Given the description of an element on the screen output the (x, y) to click on. 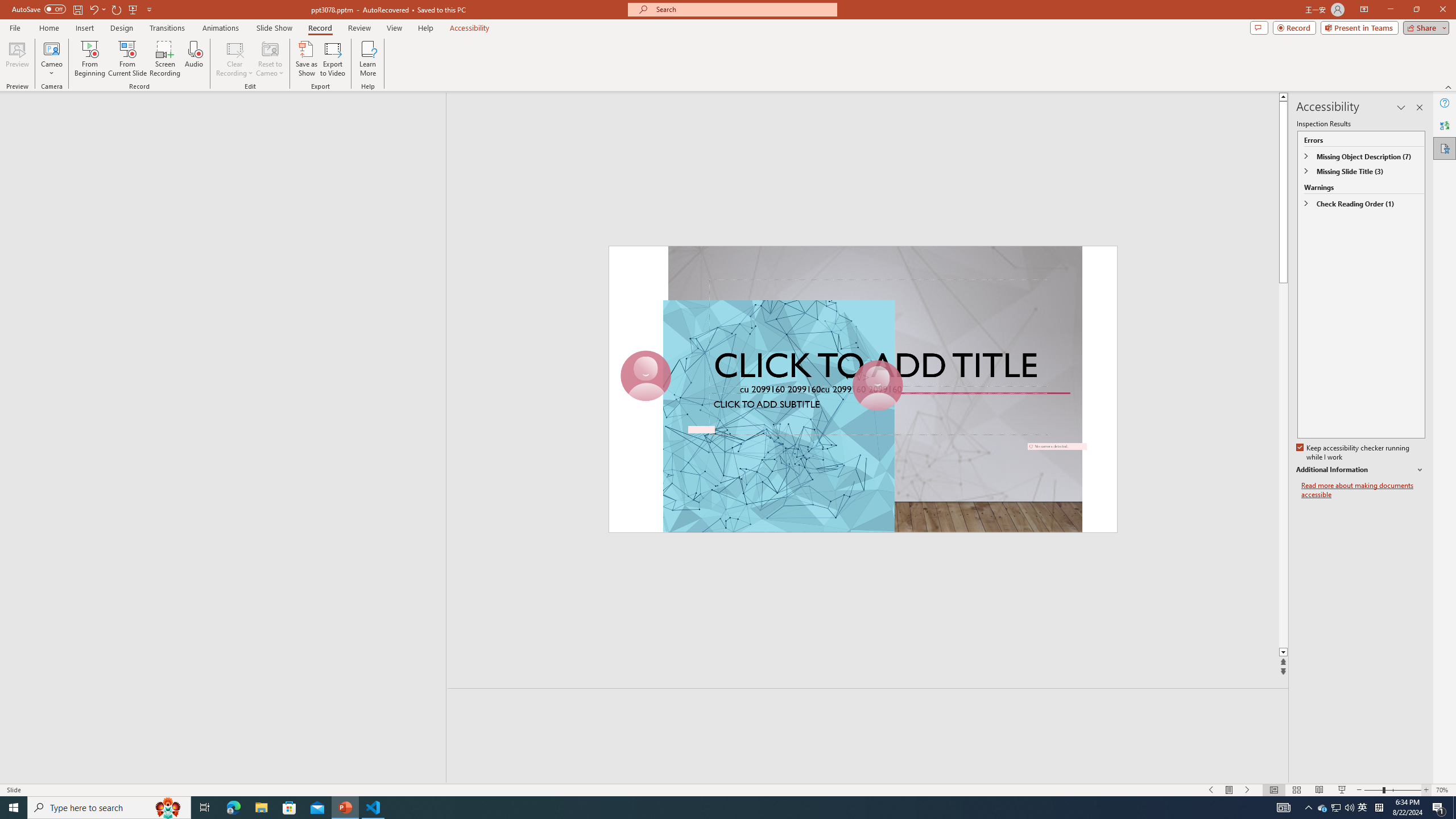
Slide Show Next On (1247, 790)
